Given the description of an element on the screen output the (x, y) to click on. 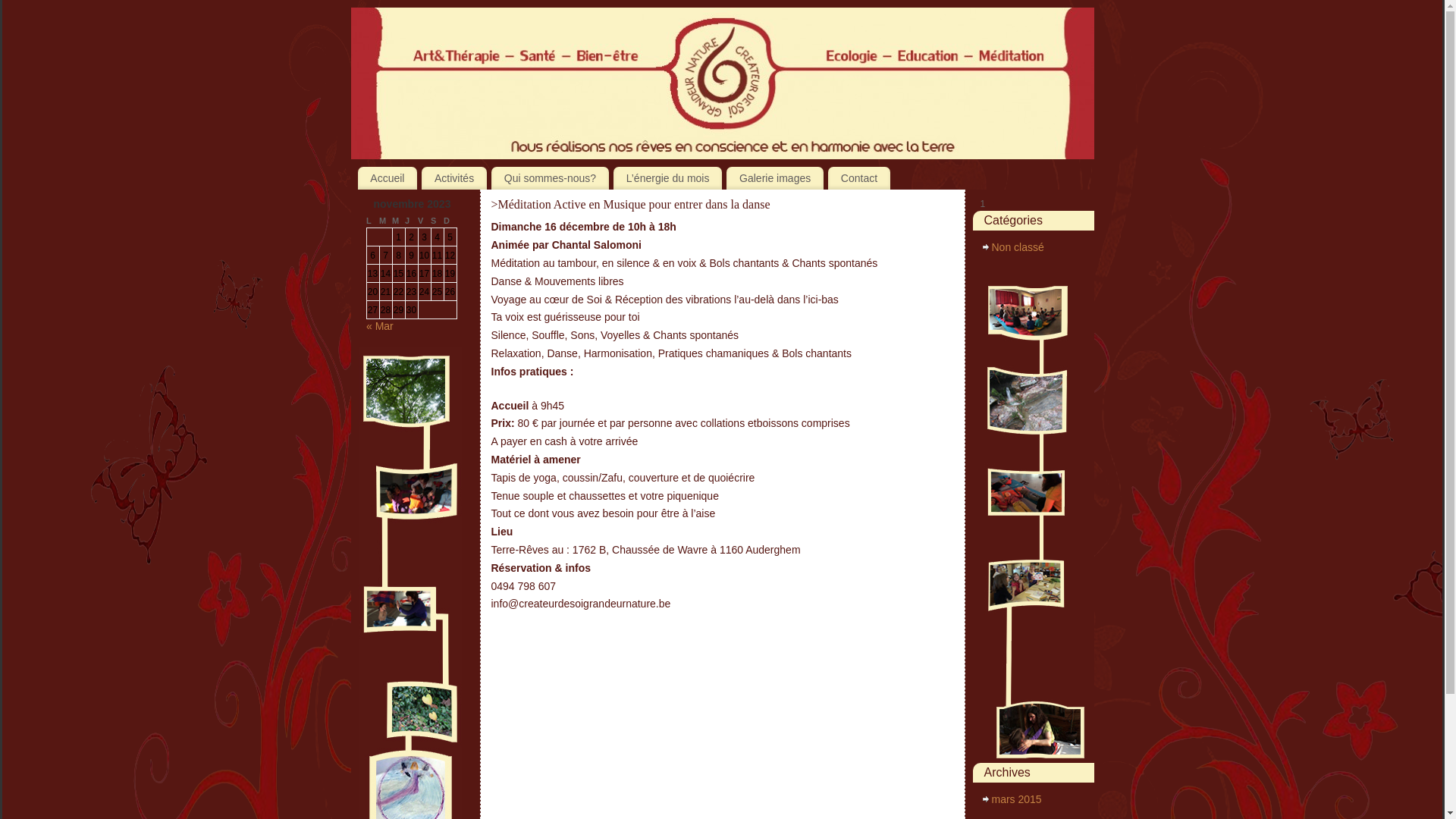
Qui sommes-nous? Element type: text (549, 178)
Galerie images Element type: text (774, 178)
Accueil Element type: text (387, 178)
Contact Element type: text (859, 178)
mars 2015 Element type: text (1016, 799)
